Given the description of an element on the screen output the (x, y) to click on. 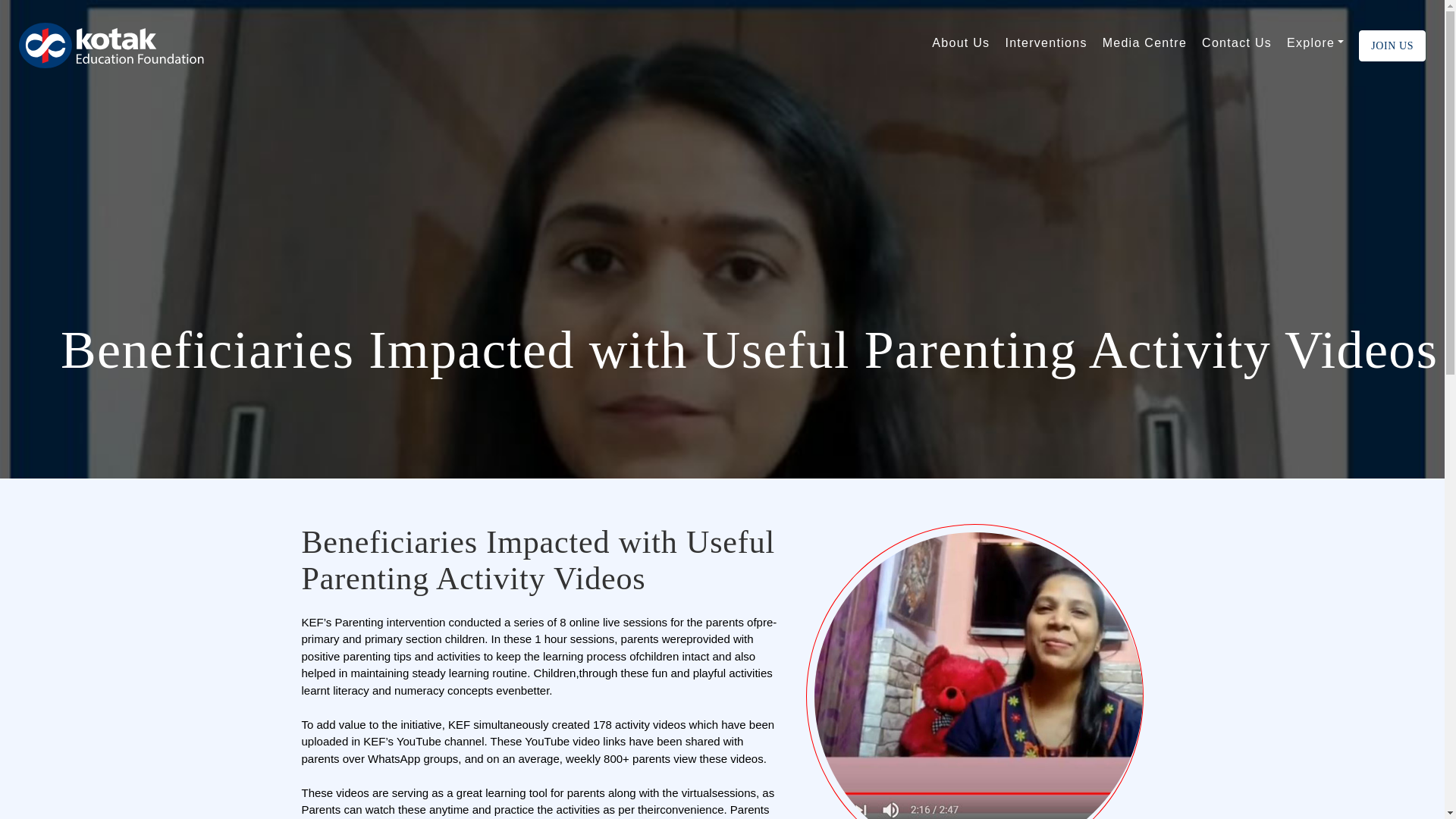
Explore (1315, 45)
Media Centre (1144, 45)
Interventions (1045, 45)
JOIN US (1391, 45)
About Us (960, 45)
Contact Us (1236, 45)
